Given the description of an element on the screen output the (x, y) to click on. 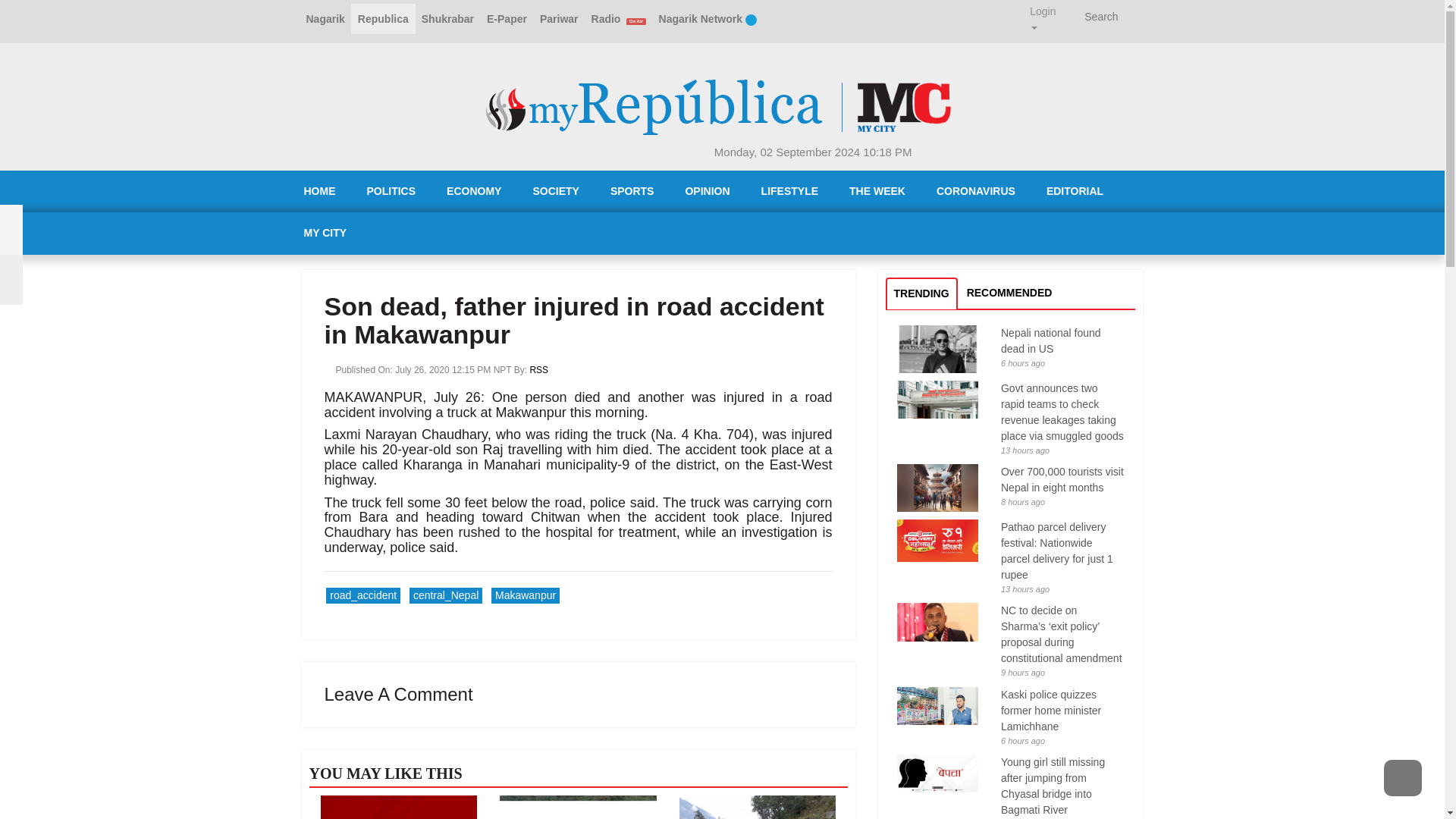
Nagarik (324, 19)
OPINION (707, 191)
E-Paper (507, 19)
Shukrabar (447, 19)
HOME (319, 191)
Radio  On Air (618, 19)
ECONOMY (473, 191)
SOCIETY (555, 191)
THE WEEK (876, 191)
POLITICS (390, 191)
